Given the description of an element on the screen output the (x, y) to click on. 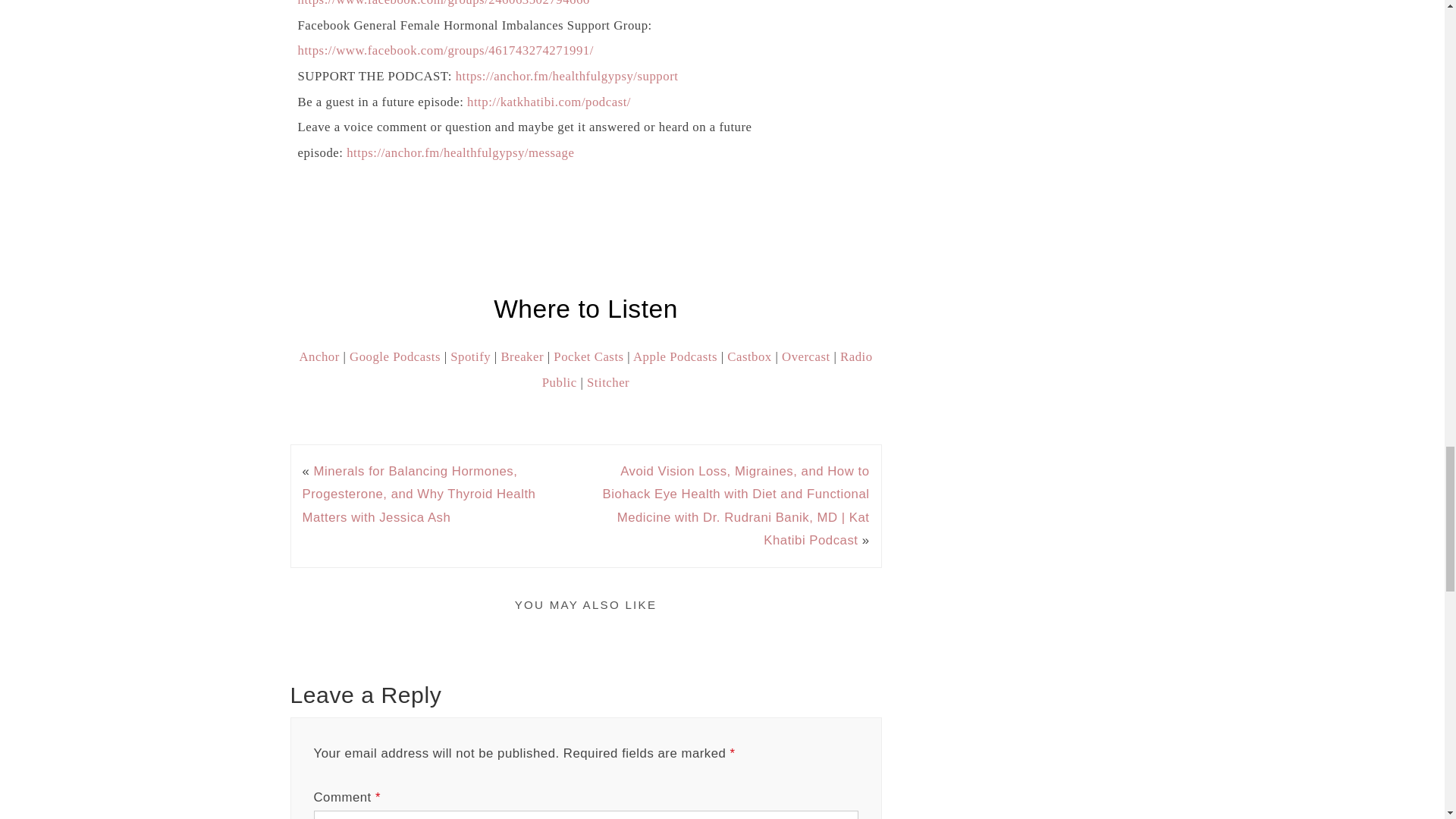
Breaker (521, 356)
Spotify (469, 356)
Google Podcasts (395, 356)
Anchor (318, 356)
